Given the description of an element on the screen output the (x, y) to click on. 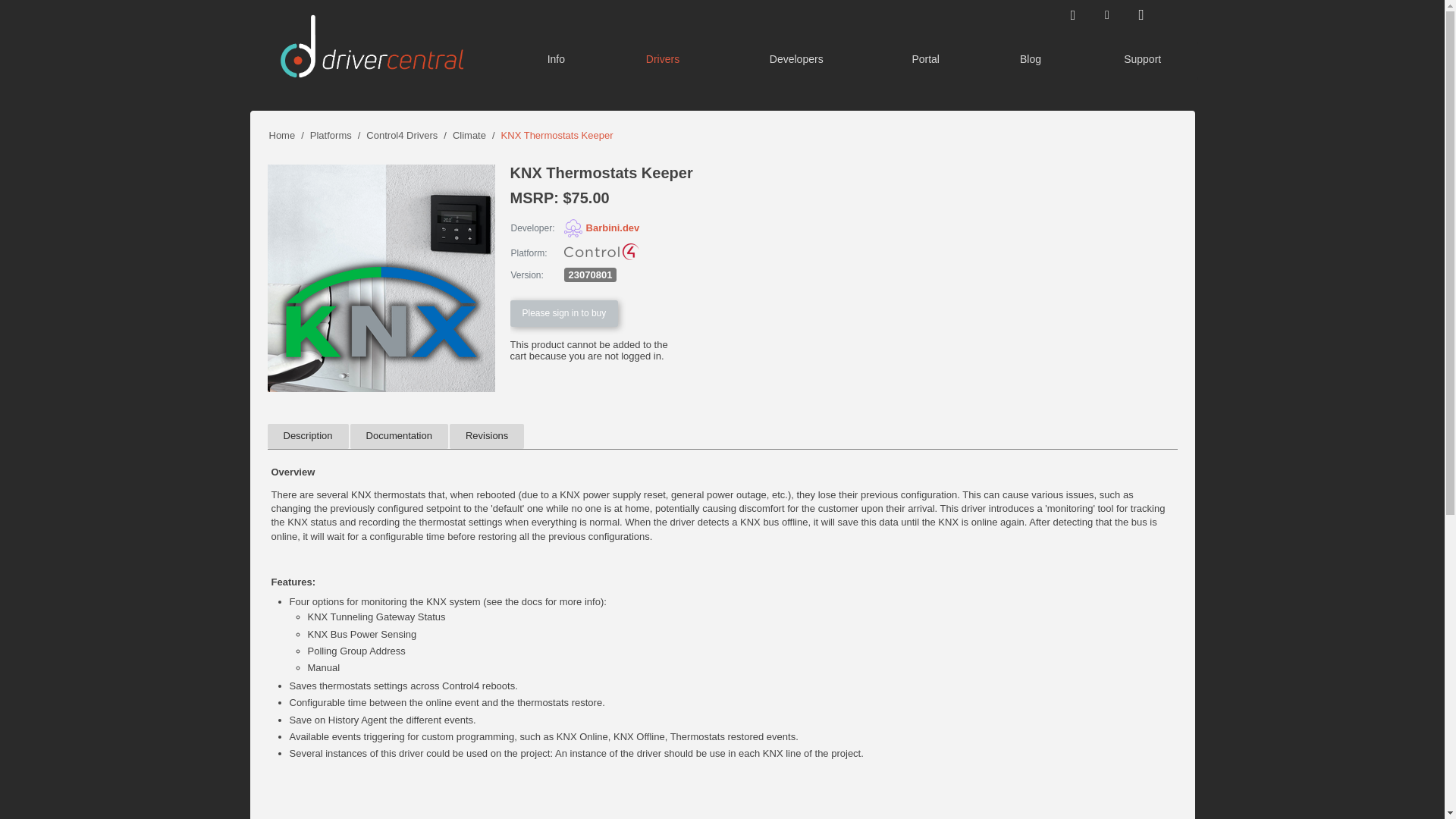
Info (555, 60)
Home (281, 134)
Portal (924, 60)
Blog (1030, 60)
Control4 Drivers (402, 134)
Climate (469, 134)
Drivers (662, 60)
Support (1141, 60)
Developers (796, 60)
Platforms (330, 134)
